Given the description of an element on the screen output the (x, y) to click on. 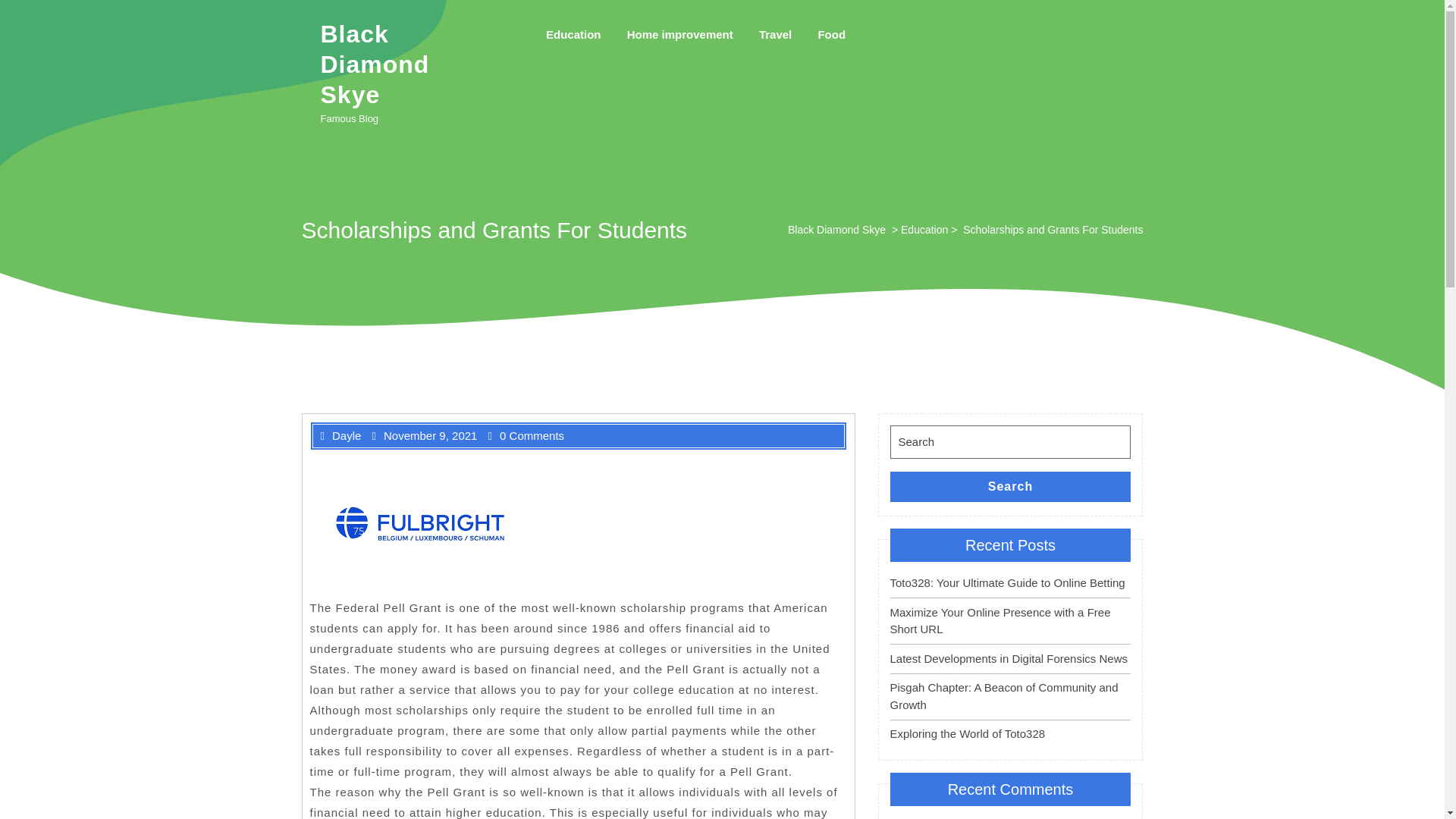
Education (924, 229)
Food (831, 34)
Maximize Your Online Presence with a Free Short URL (999, 621)
Black Diamond Skye (374, 64)
Travel (775, 34)
Latest Developments in Digital Forensics News (1007, 658)
Exploring the World of Toto328 (967, 733)
Toto328: Your Ultimate Guide to Online Betting (1007, 582)
Pisgah Chapter: A Beacon of Community and Growth (1003, 695)
Search (1010, 486)
Home improvement (679, 34)
Education (573, 34)
Black Diamond Skye (836, 229)
